Given the description of an element on the screen output the (x, y) to click on. 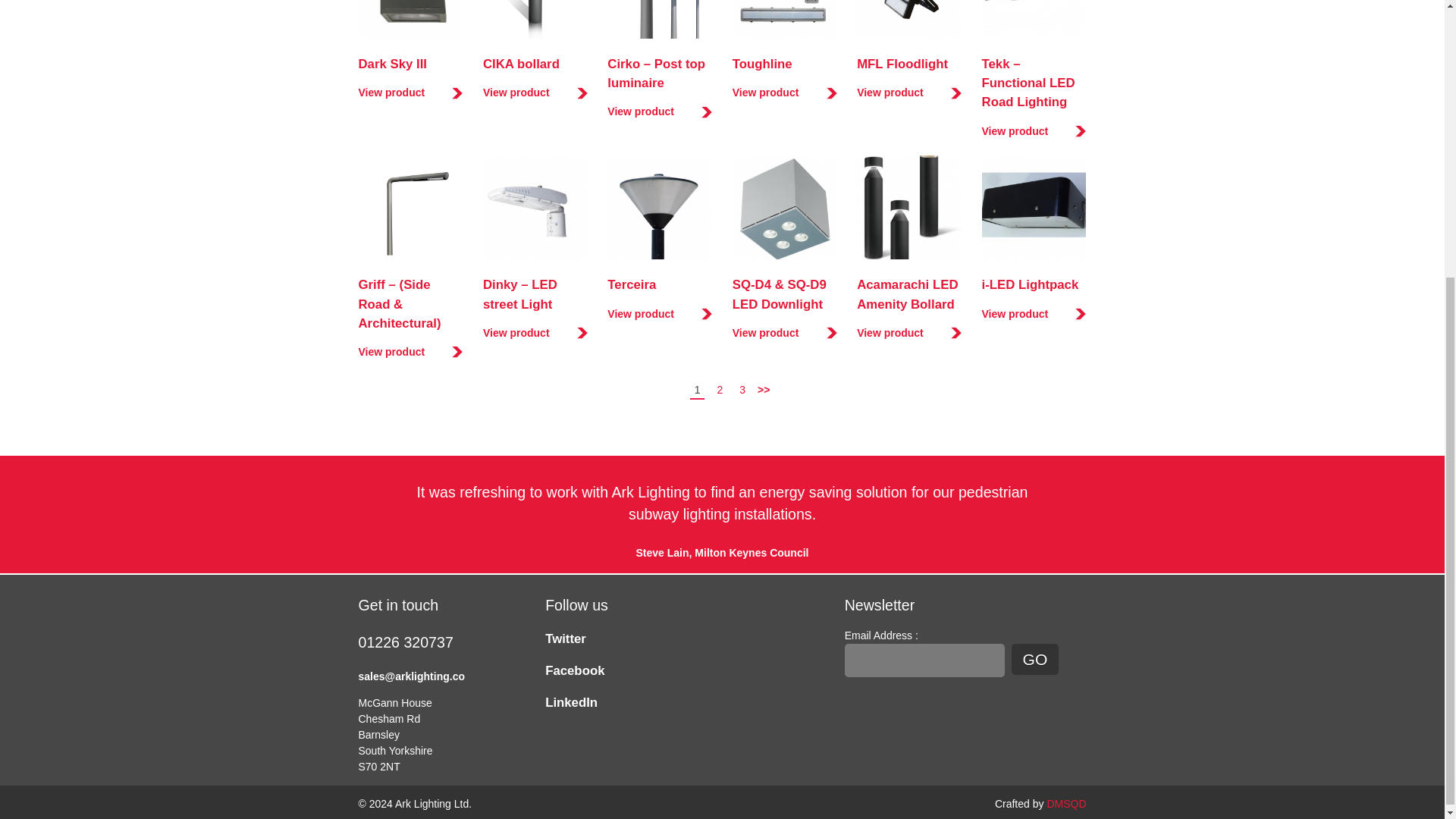
View product (659, 111)
View product (535, 333)
i-LED Lightpack (1029, 284)
View product (908, 92)
MFL Floodlight (902, 63)
Toughline (762, 63)
View product (659, 314)
Dark Sky III (392, 63)
CIKA bollard (521, 63)
View product (784, 92)
Dark Sky III (392, 63)
View product (1033, 131)
View product (410, 92)
Toughline (762, 63)
Go (1034, 658)
